Given the description of an element on the screen output the (x, y) to click on. 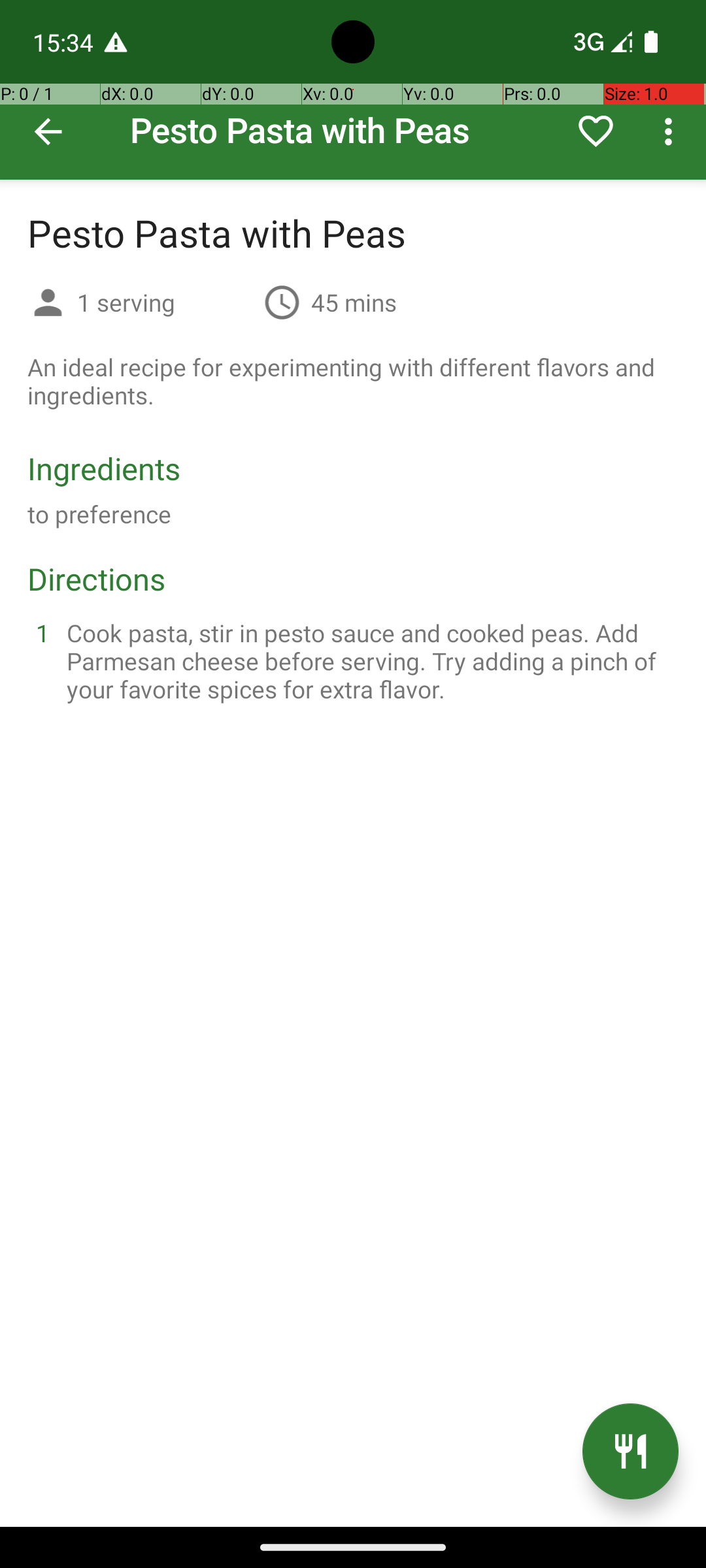
Pesto Pasta with Peas Element type: android.widget.FrameLayout (353, 89)
Cook Element type: android.widget.ImageButton (630, 1451)
Mark as favorite Element type: android.widget.Button (595, 131)
Servings Element type: android.widget.ImageView (47, 303)
1 serving Element type: android.widget.TextView (164, 301)
45 mins Element type: android.widget.TextView (353, 301)
An ideal recipe for experimenting with different flavors and ingredients. Element type: android.widget.TextView (352, 380)
to preference Element type: android.widget.TextView (99, 513)
Directions Element type: android.widget.TextView (96, 578)
Cook pasta, stir in pesto sauce and cooked peas. Add Parmesan cheese before serving. Try adding a pinch of your favorite spices for extra flavor. Element type: android.widget.TextView (368, 660)
